Given the description of an element on the screen output the (x, y) to click on. 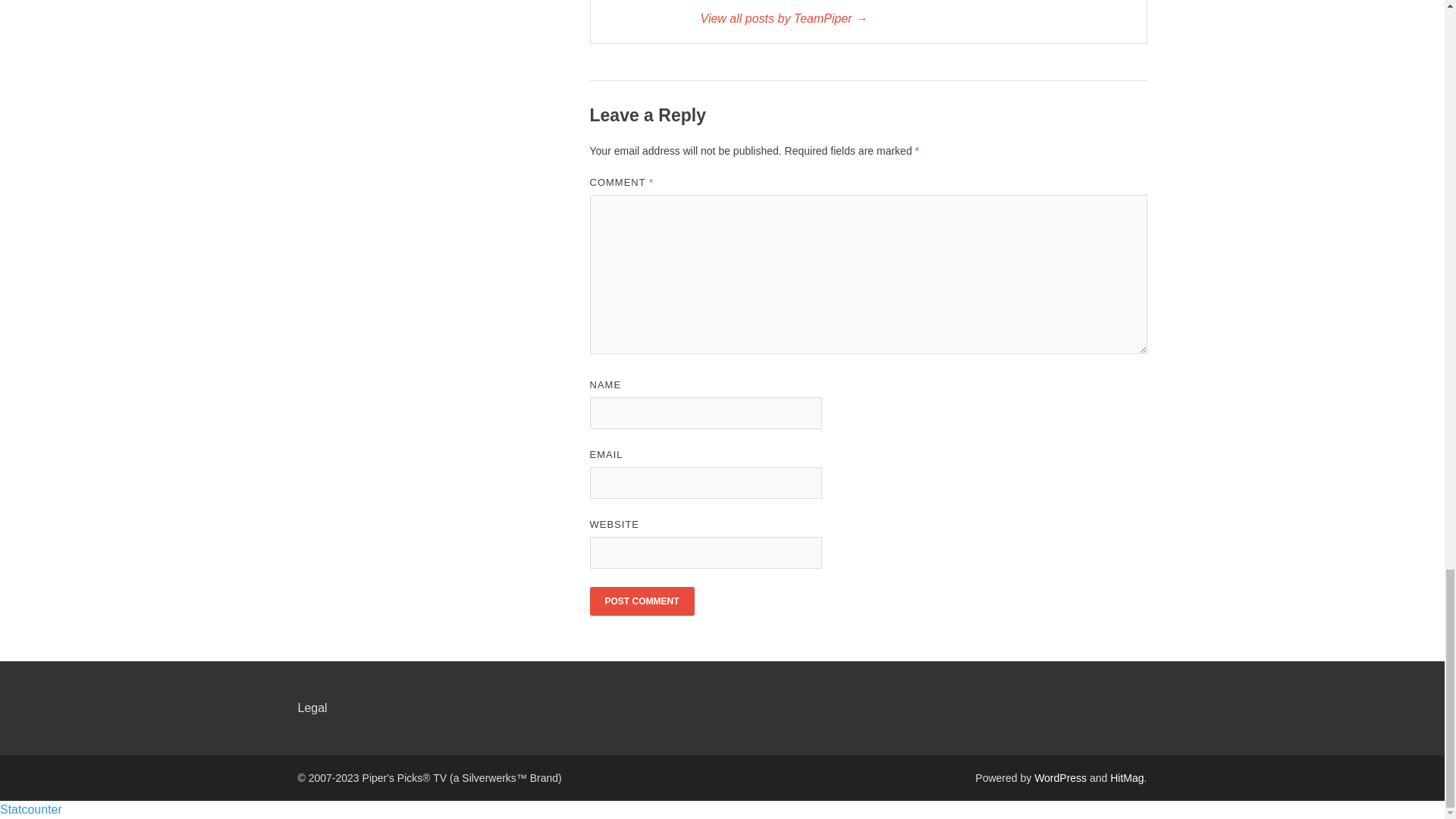
Post Comment (641, 601)
HitMag WordPress Theme (1125, 777)
TeamPiper (915, 18)
WordPress (1059, 777)
